Given the description of an element on the screen output the (x, y) to click on. 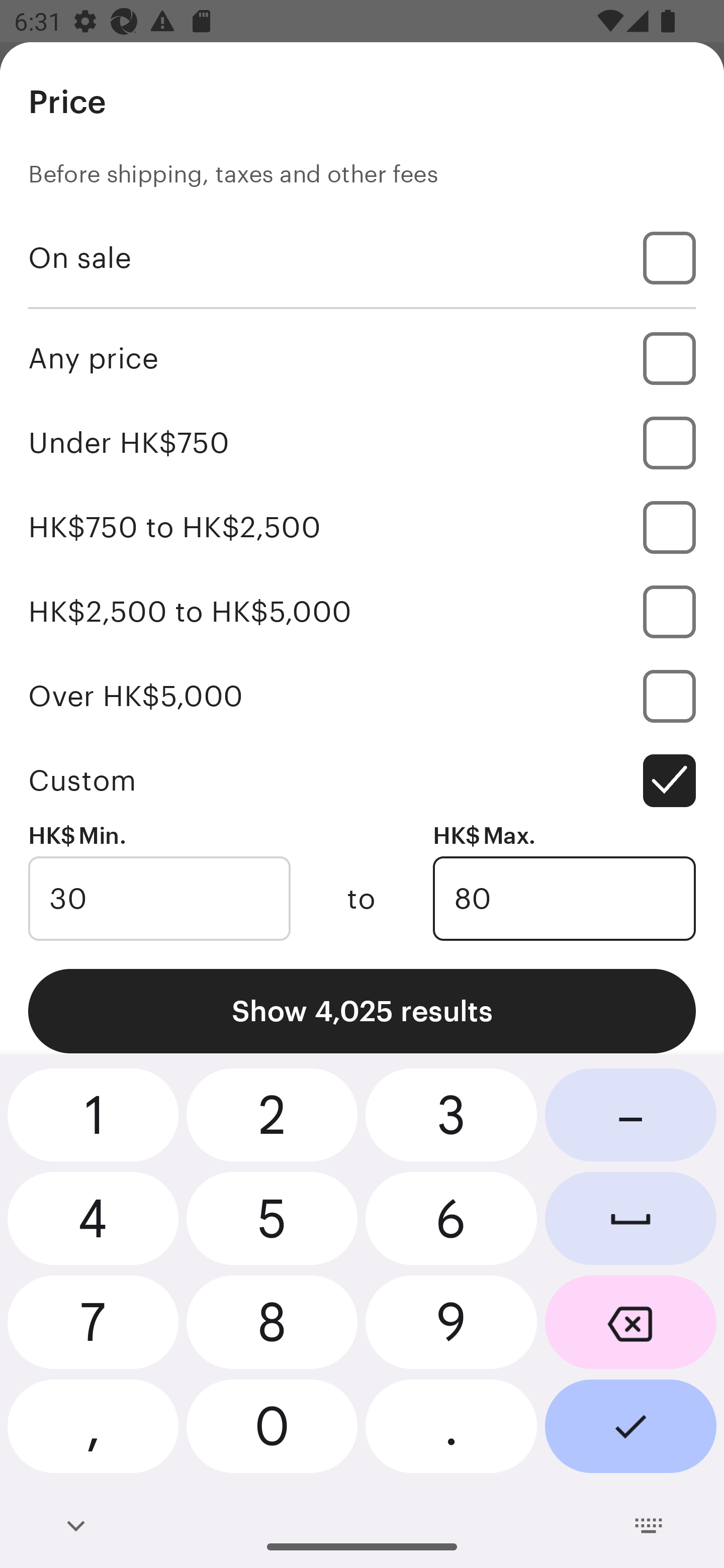
On sale (362, 257)
Any price (362, 357)
Under HK$750 (362, 441)
HK$750 to HK$2,500 (362, 526)
HK$2,500 to HK$5,000 (362, 611)
Over HK$5,000 (362, 695)
Custom (362, 780)
30 (159, 898)
80 (563, 898)
Show 4,025 results (361, 1011)
